Given the description of an element on the screen output the (x, y) to click on. 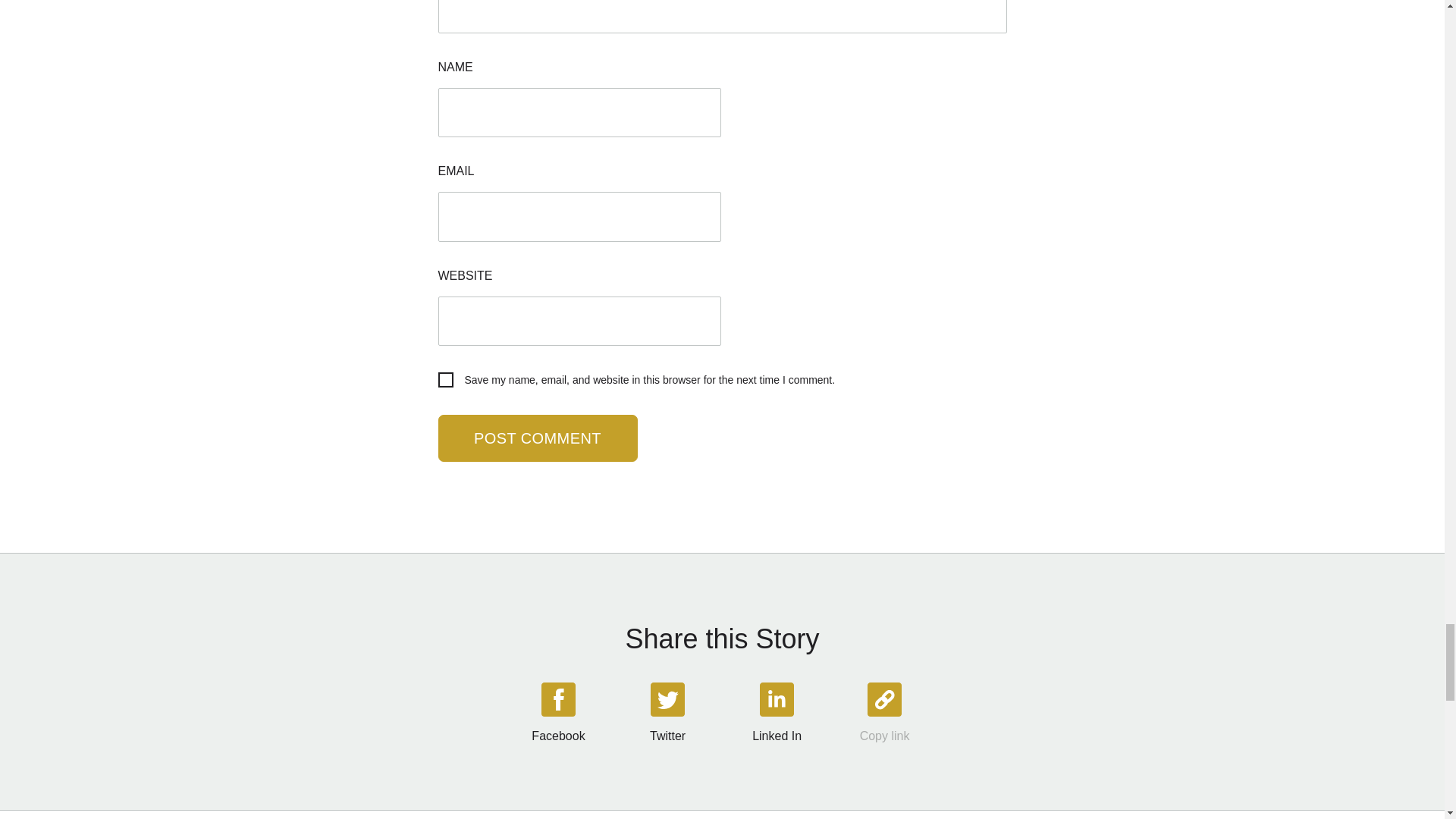
Post Comment (537, 437)
